Given the description of an element on the screen output the (x, y) to click on. 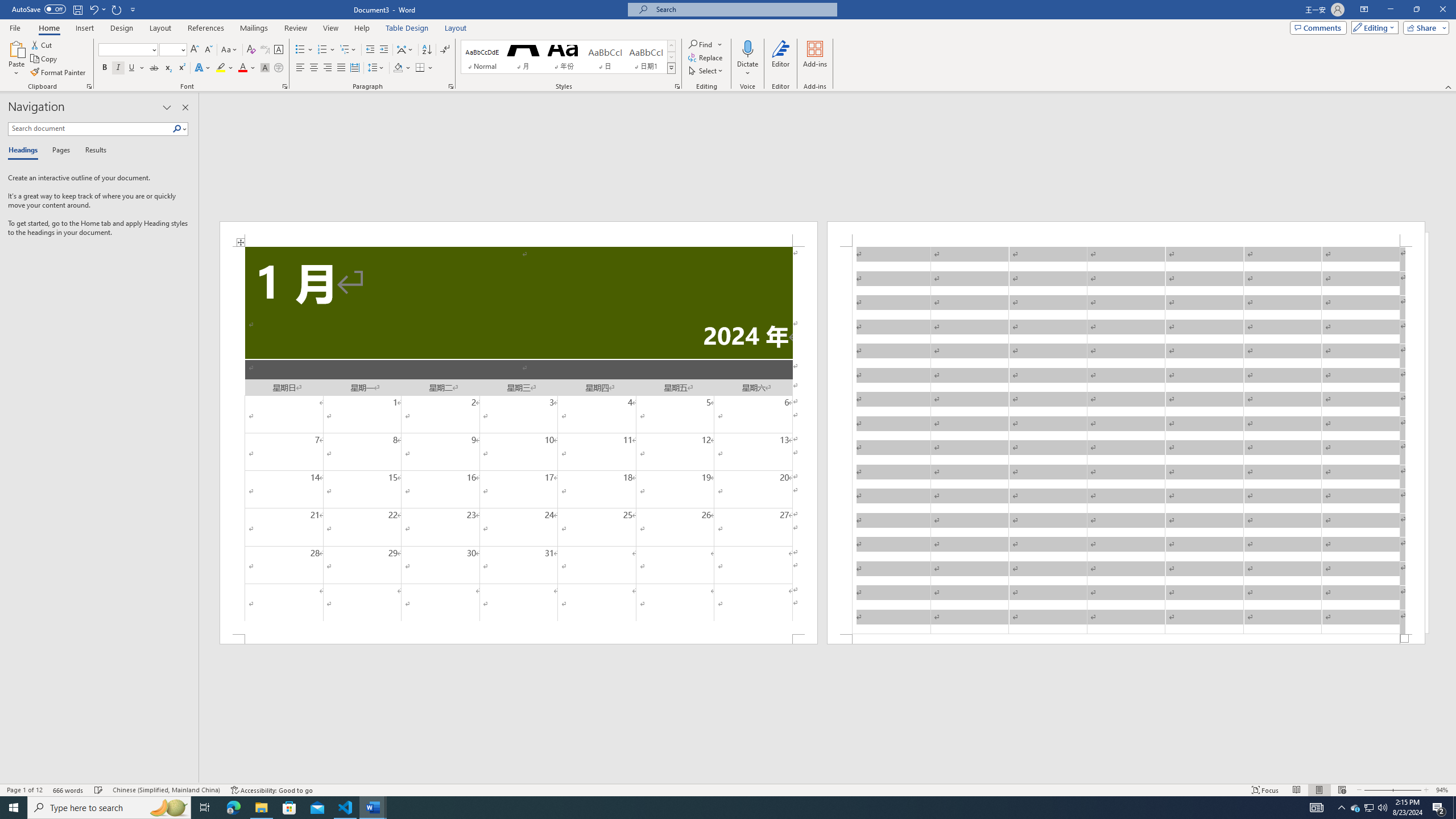
Replace... (705, 56)
Distributed (354, 67)
Styles... (676, 85)
Repeat Italic (117, 9)
Undo Italic (96, 9)
Page 1 content (518, 439)
Mode (1372, 27)
